Given the description of an element on the screen output the (x, y) to click on. 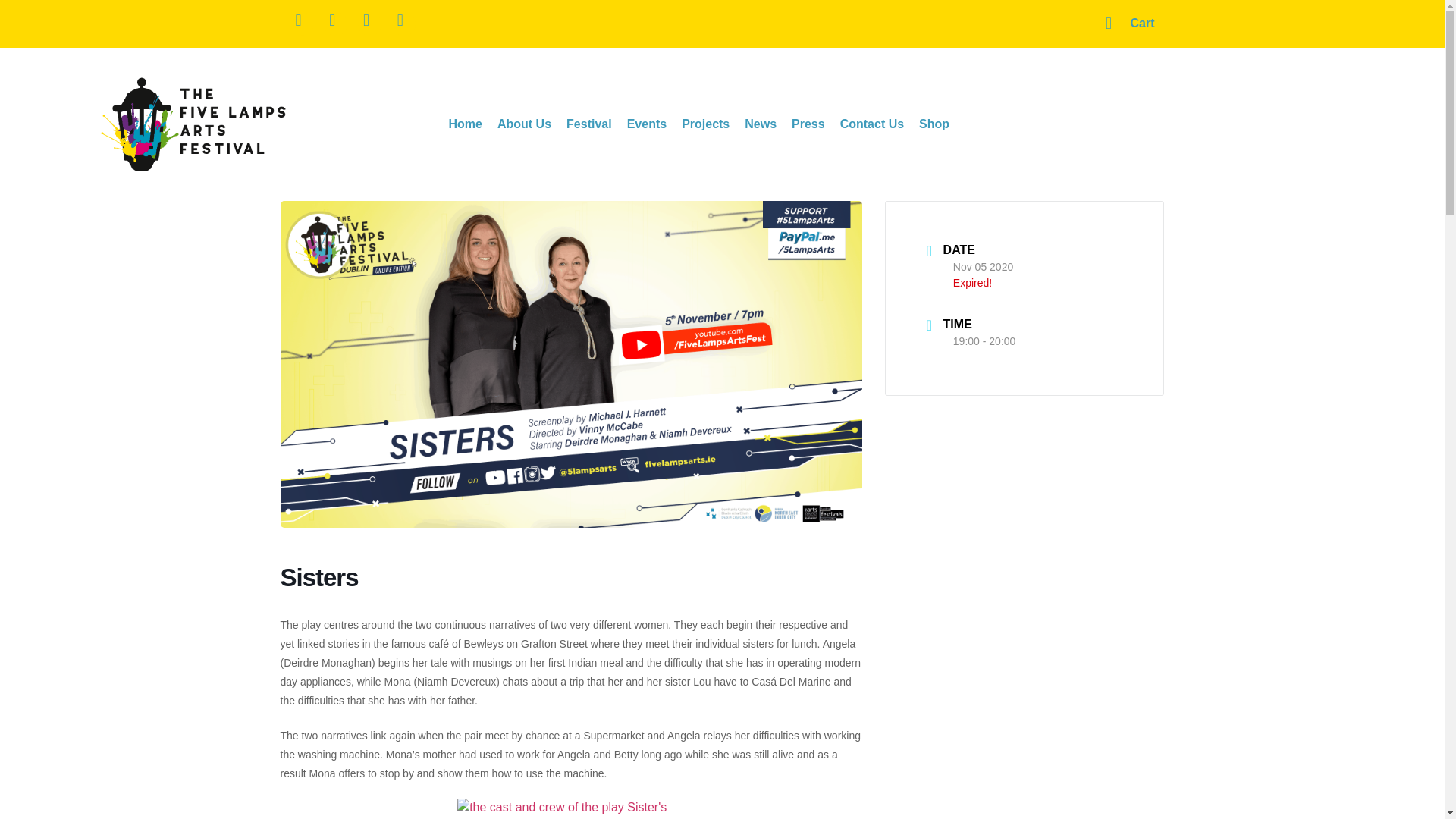
Events (647, 124)
Shop (933, 124)
Press (808, 124)
Cart (1129, 23)
Festival (589, 124)
News (760, 124)
Contact Us (871, 124)
Home (465, 124)
Projects (705, 124)
About Us (524, 124)
